Given the description of an element on the screen output the (x, y) to click on. 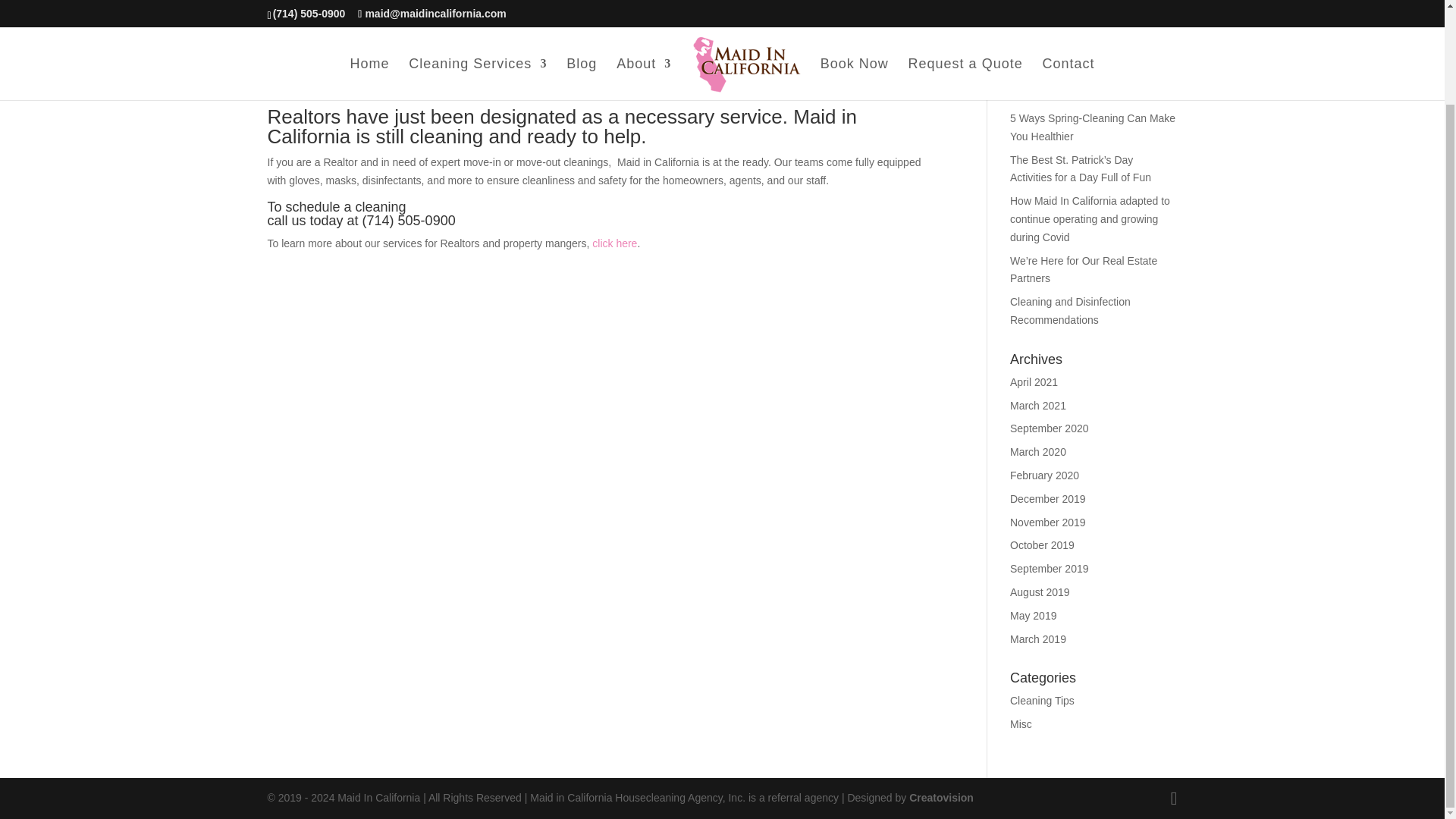
April 2021 (1034, 381)
March 2021 (1037, 405)
5 Ways Spring-Cleaning Can Make You Healthier (1092, 127)
Search (1151, 51)
Cleaning and Disinfection Recommendations (1070, 310)
September 2020 (1049, 428)
Search (1151, 51)
click here (614, 243)
